Given the description of an element on the screen output the (x, y) to click on. 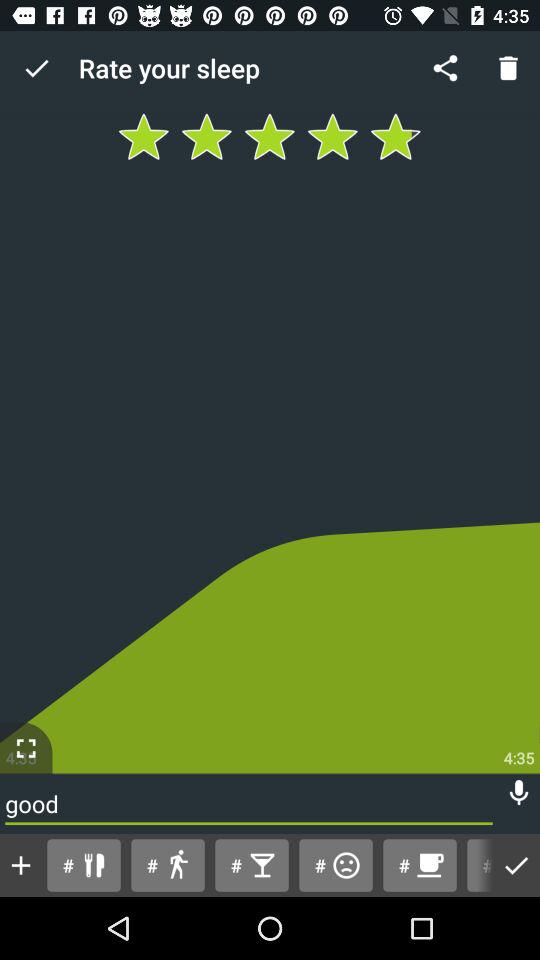
turn on button next to # (516, 864)
